Given the description of an element on the screen output the (x, y) to click on. 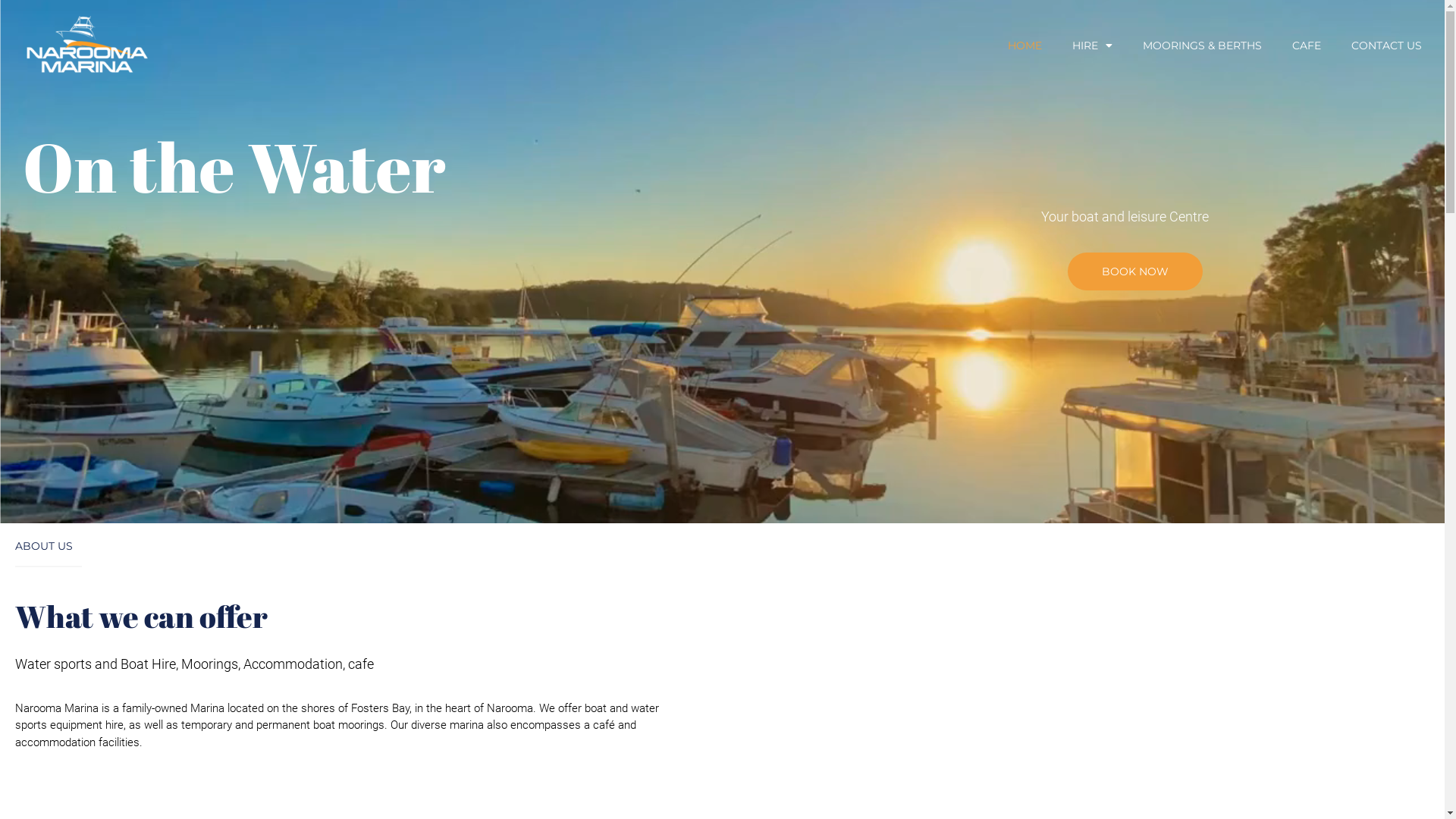
CAFE Element type: text (1306, 45)
MOORINGS & BERTHS Element type: text (1202, 45)
CONTACT US Element type: text (1386, 45)
HIRE Element type: text (1092, 45)
HOME Element type: text (1024, 45)
BOOK NOW Element type: text (1134, 271)
